Given the description of an element on the screen output the (x, y) to click on. 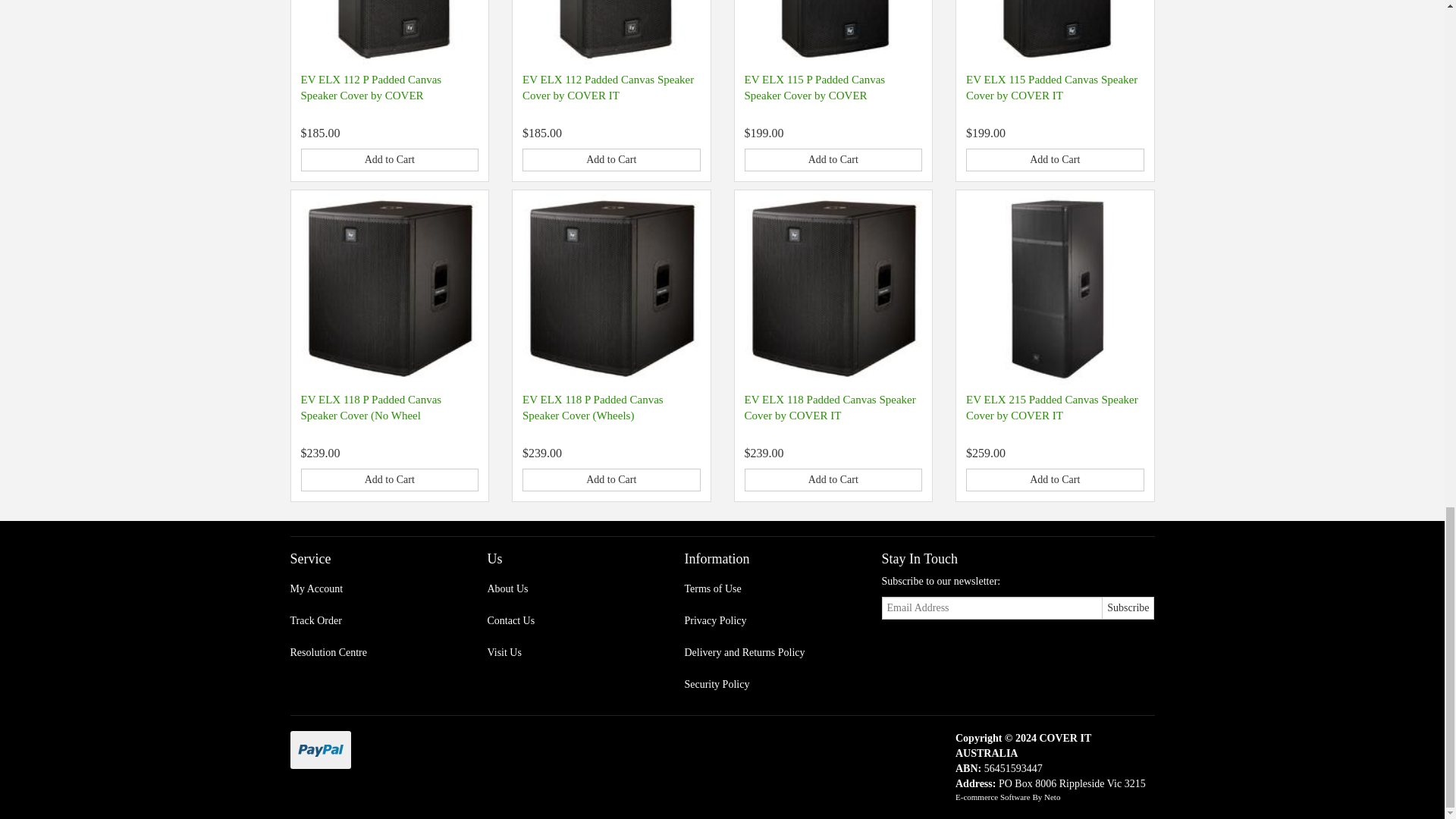
Add to Cart (1055, 159)
Add to Cart (389, 159)
Add to Cart (611, 159)
Subscribe (1128, 608)
Add to Cart (833, 159)
